Given the description of an element on the screen output the (x, y) to click on. 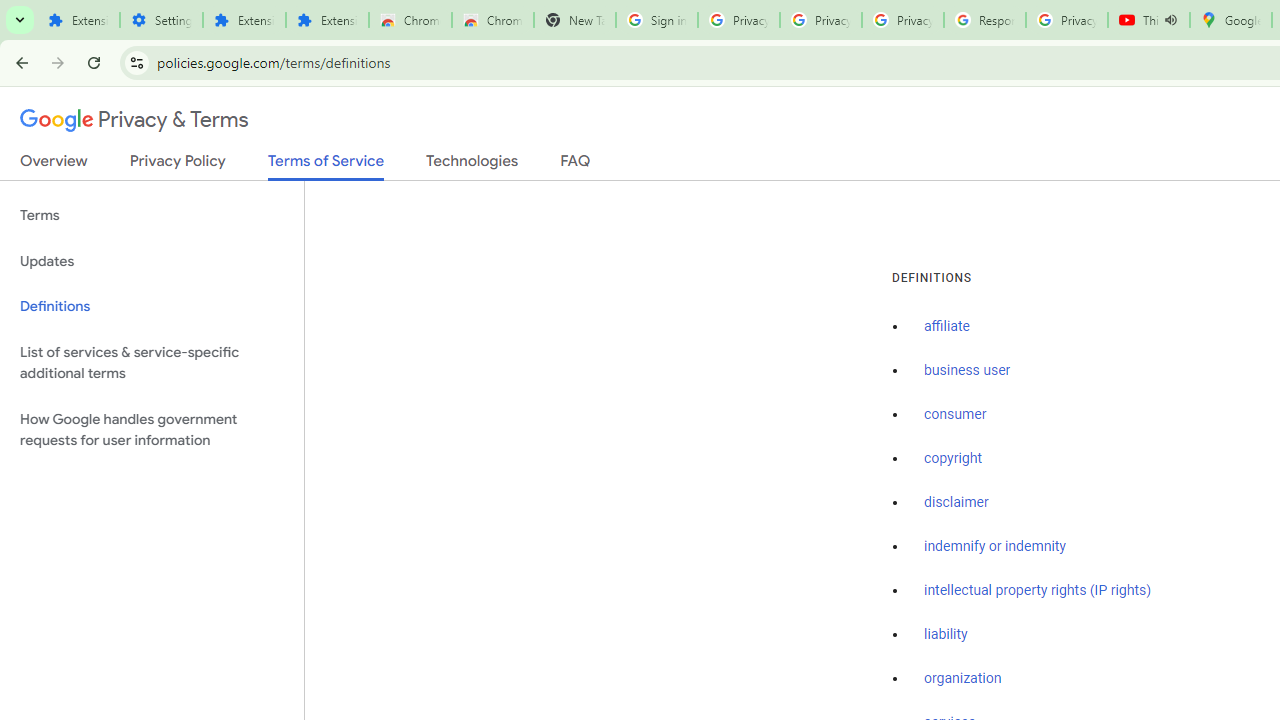
Technologies (472, 165)
indemnify or indemnity (995, 546)
disclaimer (956, 502)
business user (967, 371)
intellectual property rights (IP rights) (1038, 590)
How Google handles government requests for user information (152, 429)
organization (963, 679)
List of services & service-specific additional terms (152, 362)
Terms of Service (326, 166)
Terms (152, 215)
